Given the description of an element on the screen output the (x, y) to click on. 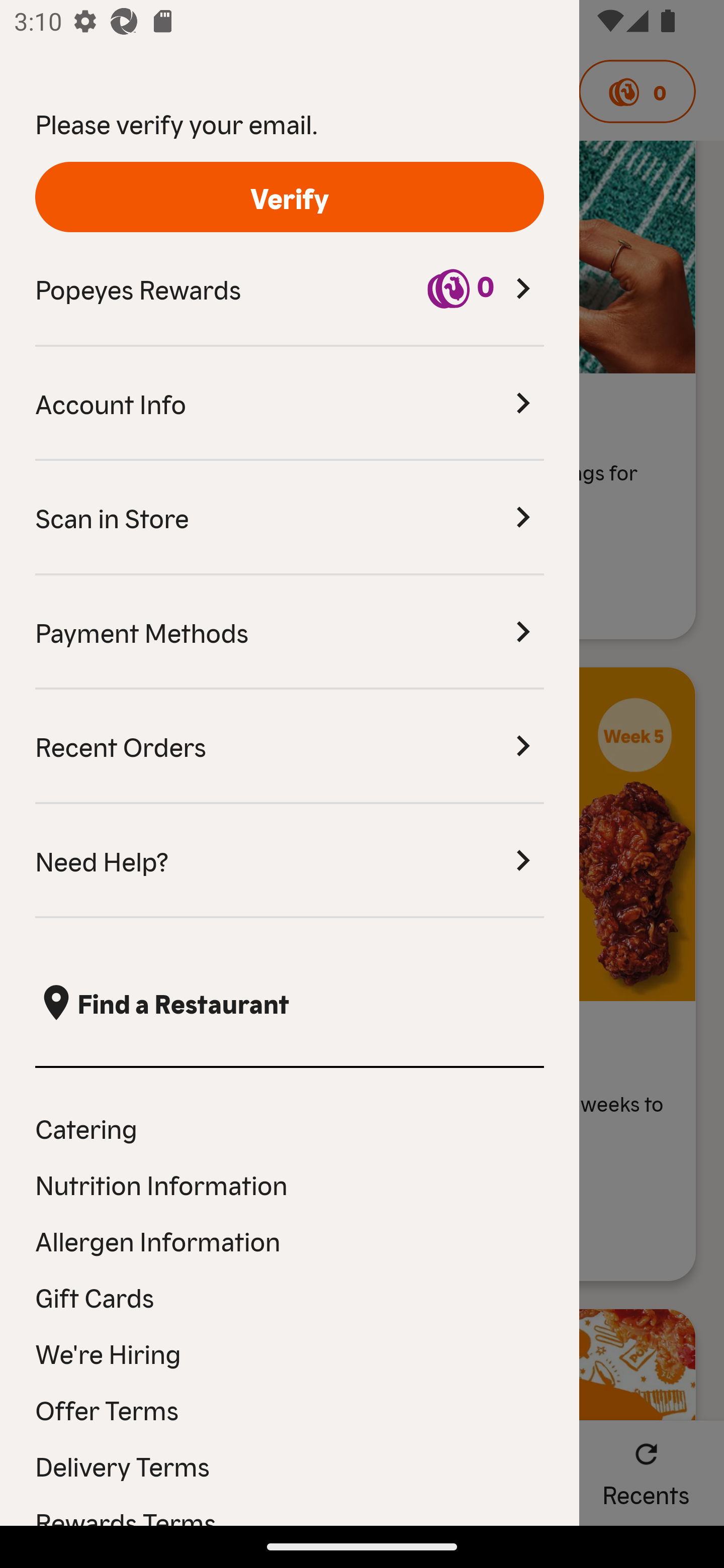
Verify (289, 196)
Account Info Account Info  (289, 403)
Scan in Store Scan in Store  (289, 517)
Payment Methods Payment Methods  (289, 632)
Recent Orders Recent Orders  (289, 746)
Need Help? Need Help?  (289, 861)
, Find a Restaurant  Find a Restaurant (289, 1002)
Catering (289, 1127)
Nutrition Information (289, 1183)
Allergen Information (289, 1240)
Gift Cards (289, 1296)
We're Hiring (289, 1352)
Offer Terms (289, 1409)
Delivery Terms (289, 1465)
